Given the description of an element on the screen output the (x, y) to click on. 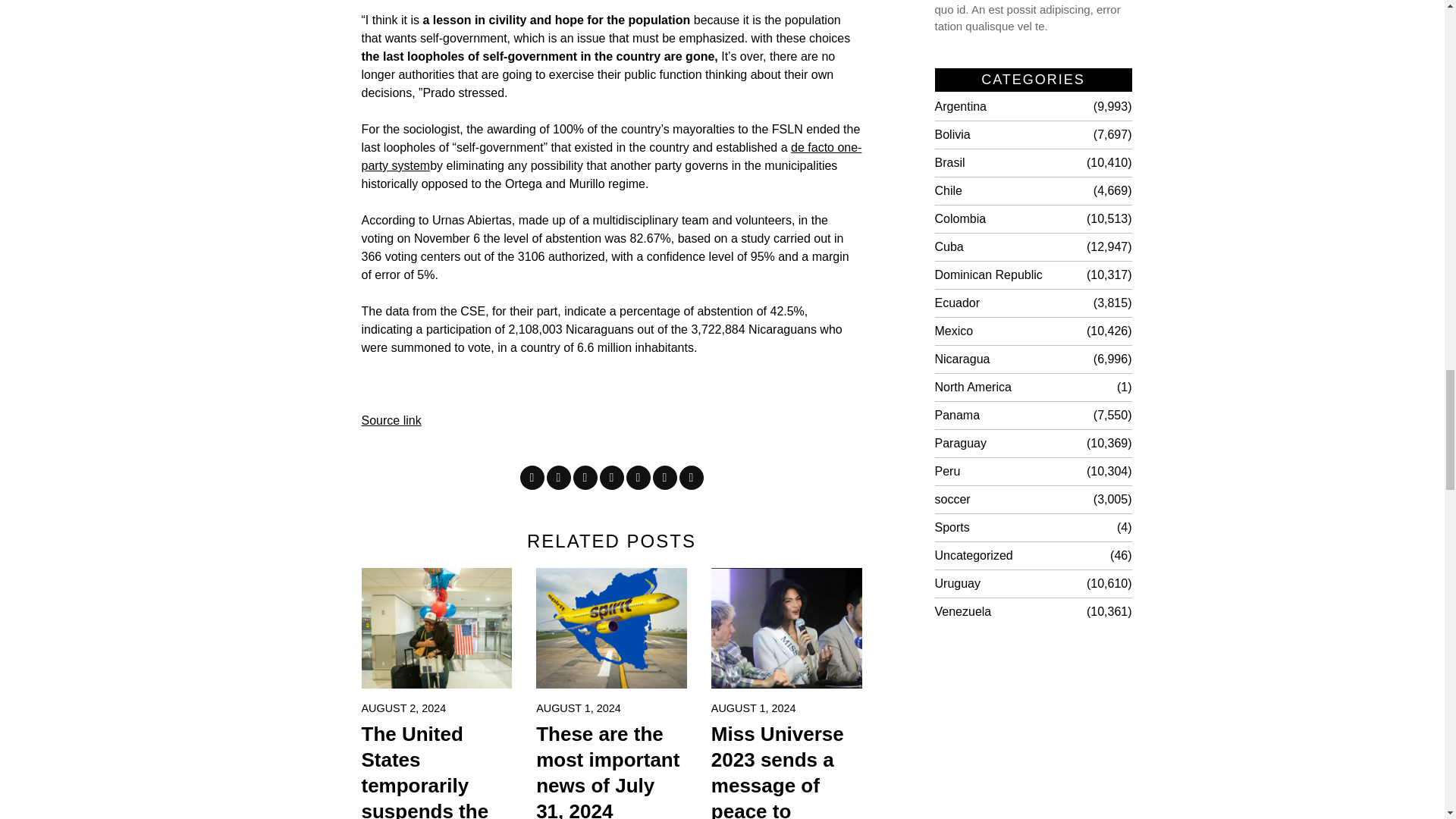
01 Aug, 2024 14:56:36 (578, 708)
01 Aug, 2024 00:00:20 (753, 708)
02 Aug, 2024 18:57:06 (403, 708)
Source link (390, 420)
de facto one-party system (611, 155)
